Given the description of an element on the screen output the (x, y) to click on. 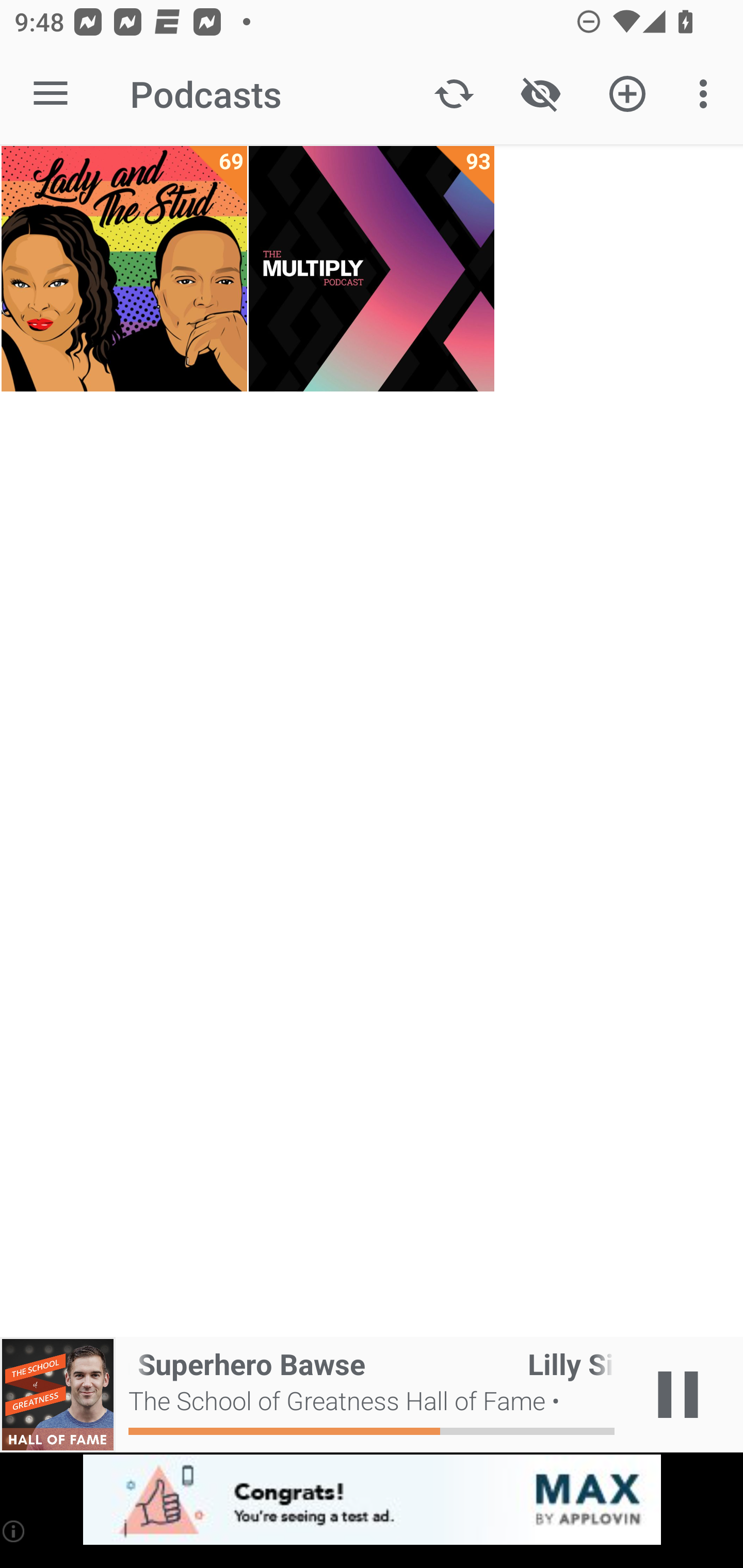
Open navigation sidebar (50, 93)
Update (453, 93)
Show / Hide played content (540, 93)
Add new Podcast (626, 93)
More options (706, 93)
Lady and The Stud 69 (124, 268)
The Multiply Podcast 93 (371, 268)
Play / Pause (677, 1394)
app-monetization (371, 1500)
(i) (14, 1531)
